Given the description of an element on the screen output the (x, y) to click on. 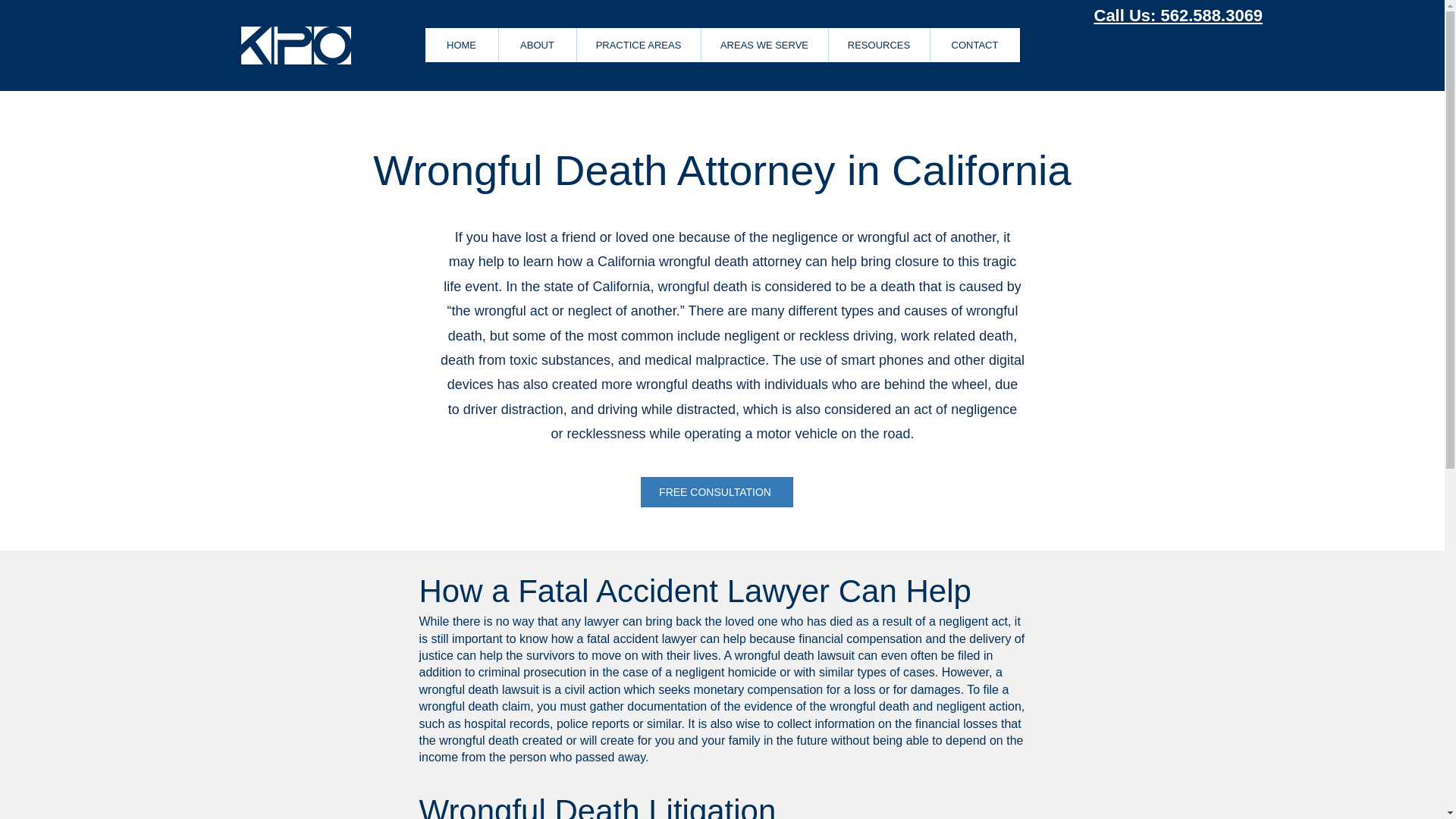
Call Us: 562.588.3069 (1177, 15)
AREAS WE SERVE (764, 44)
CONTACT (975, 44)
HOME (461, 44)
FREE CONSULTATION (716, 491)
kpologotranparent.png (295, 45)
ABOUT (536, 44)
